Given the description of an element on the screen output the (x, y) to click on. 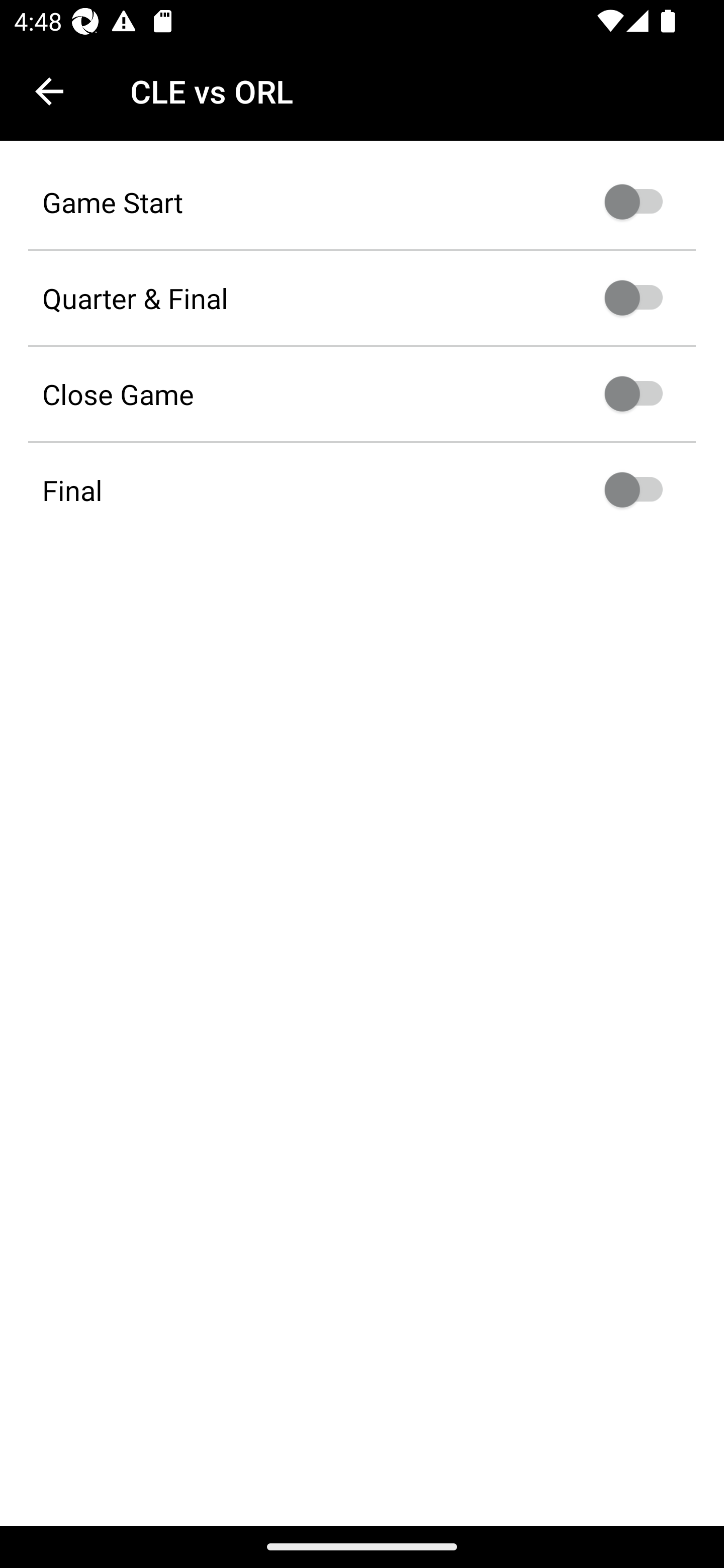
Navigate up (49, 91)
